Given the description of an element on the screen output the (x, y) to click on. 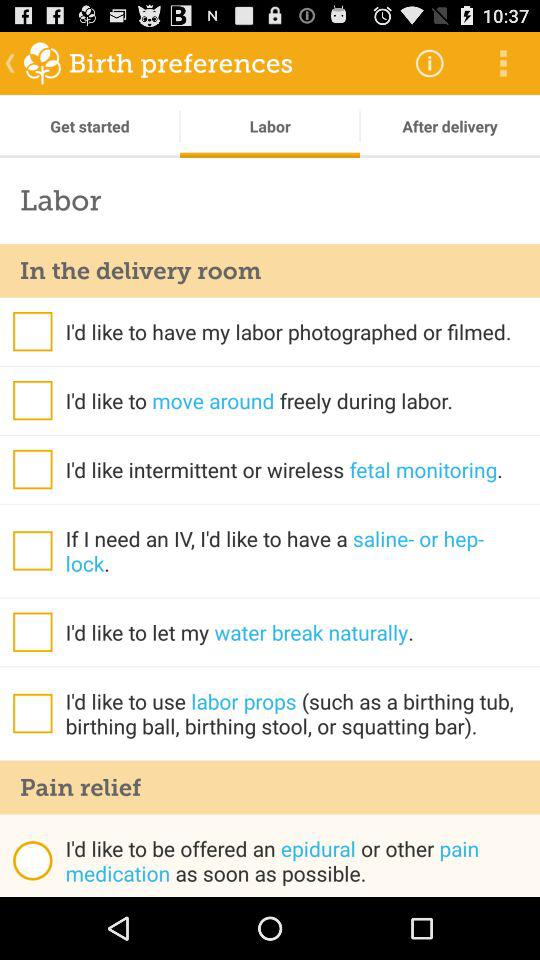
select option (32, 631)
